Given the description of an element on the screen output the (x, y) to click on. 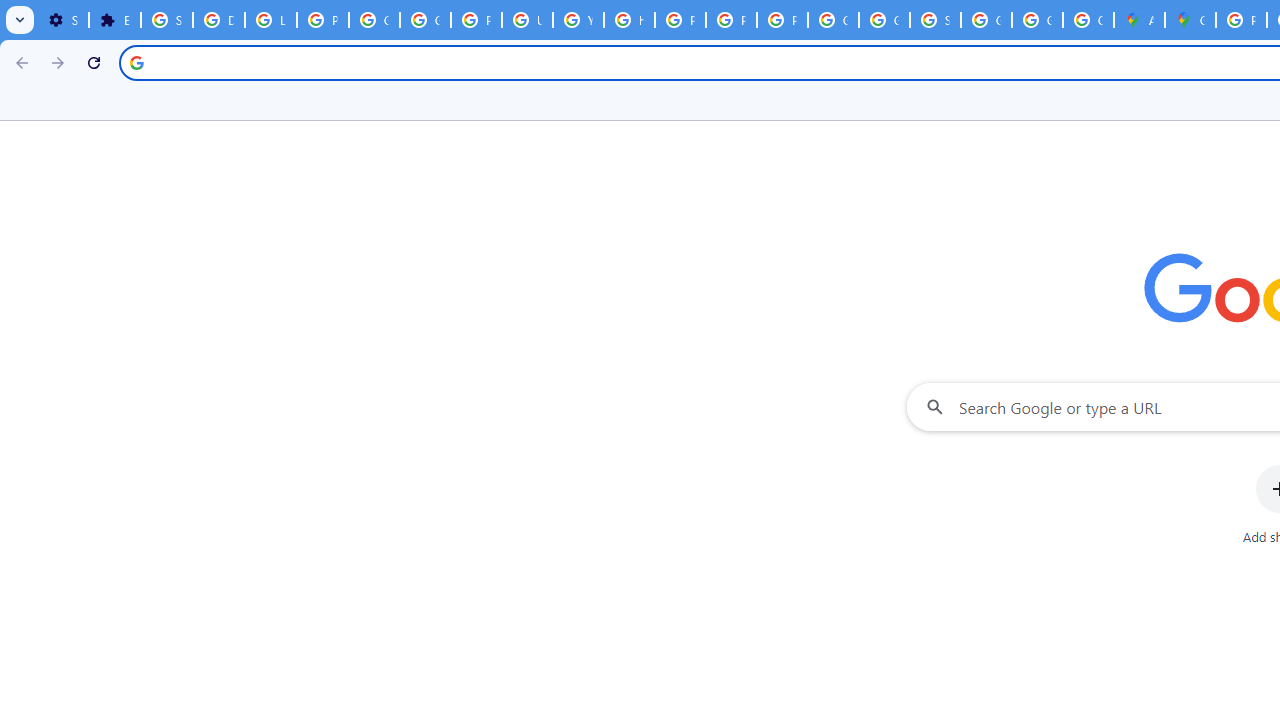
Sign in - Google Accounts (935, 20)
Settings - On startup (63, 20)
Sign in - Google Accounts (166, 20)
https://scholar.google.com/ (629, 20)
Google Account Help (374, 20)
Policy Accountability and Transparency - Transparency Center (1241, 20)
